Given the description of an element on the screen output the (x, y) to click on. 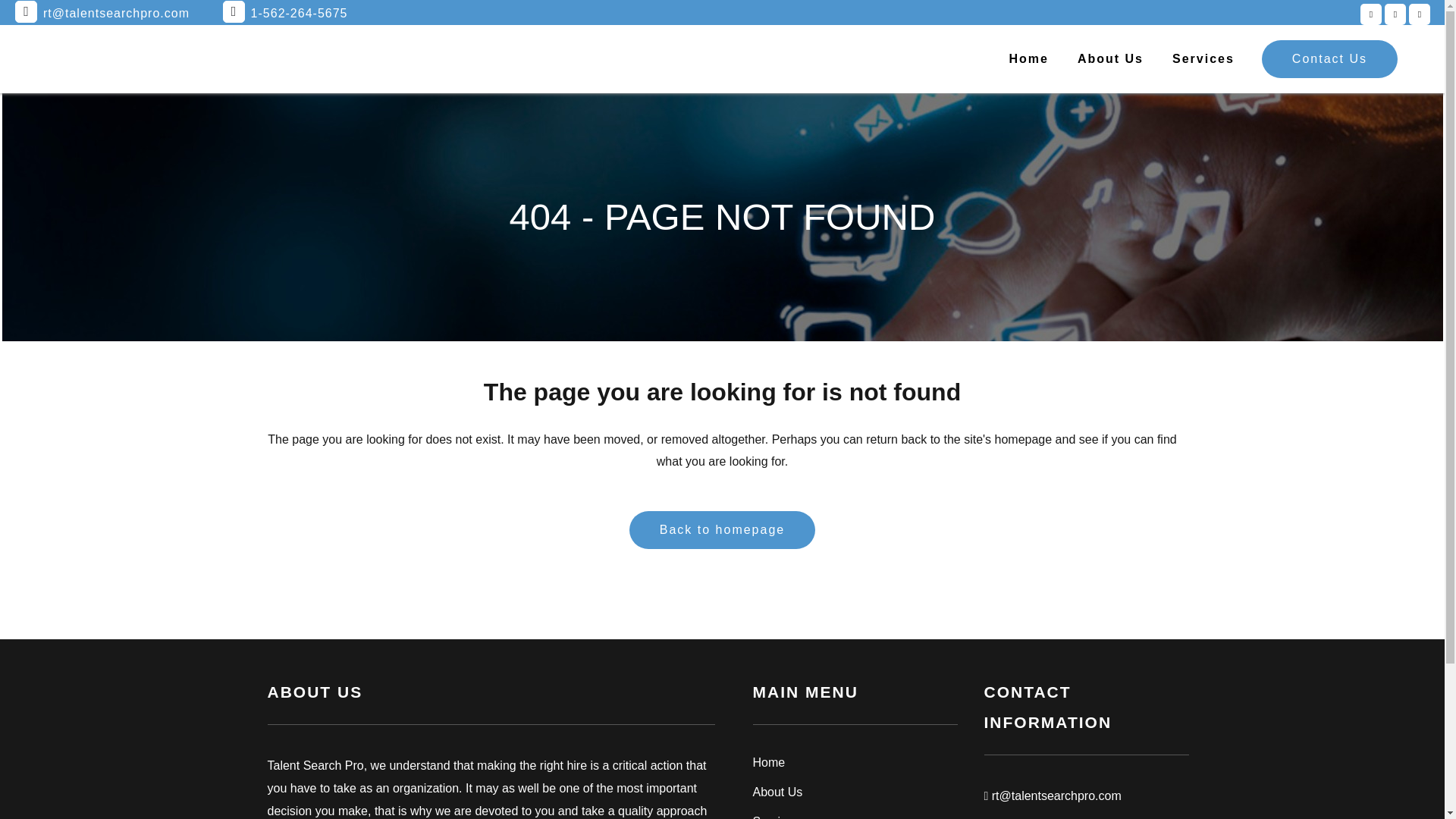
Home (854, 762)
Services (854, 816)
Home (1028, 59)
Contact Us (1329, 58)
Back to homepage (721, 529)
Services (1203, 59)
About Us (1109, 59)
About Us (854, 791)
